Given the description of an element on the screen output the (x, y) to click on. 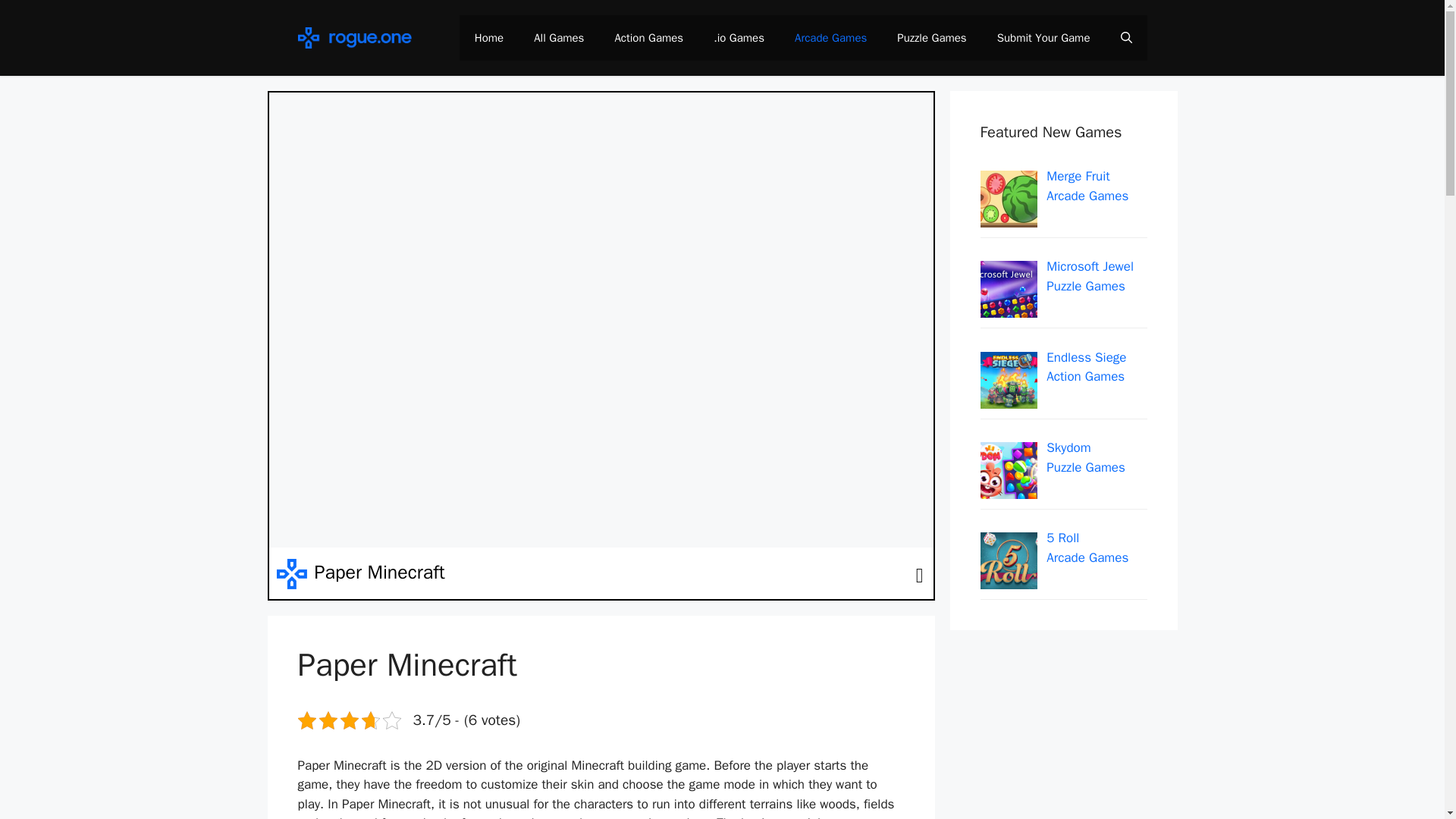
Puzzle Games (1085, 286)
Merge Fruit (1077, 176)
Home (489, 37)
Action Games (648, 37)
Microsoft Jewel (1090, 266)
Arcade Games (1087, 557)
All Games (558, 37)
Rogue.one (353, 37)
.io Games (738, 37)
Arcade Games (830, 37)
Puzzle Games (931, 37)
Arcade Games (1087, 195)
Skydom (1068, 447)
Puzzle Games (1085, 467)
5 Roll (1062, 537)
